Given the description of an element on the screen output the (x, y) to click on. 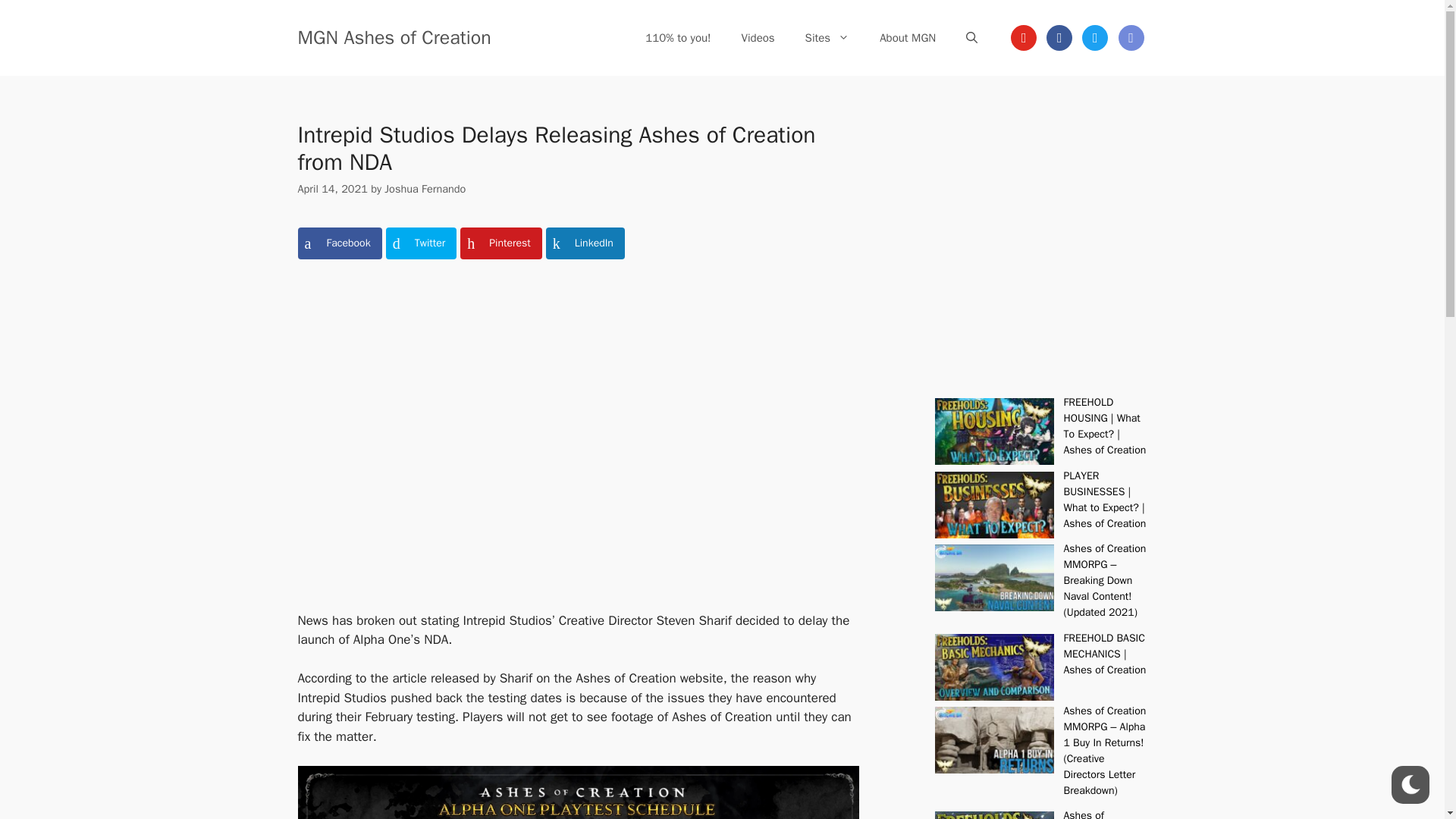
Default Label (1023, 36)
youtube (1023, 36)
twitter (1094, 36)
Sites (827, 37)
About MGN (907, 37)
Twitter (1094, 36)
Facebook (1058, 36)
facebook (1058, 36)
Instagram (1130, 36)
Share on Facebook (339, 243)
View all posts by Joshua Fernando (424, 188)
Share on LinkedIn (585, 243)
Share on Twitter (421, 243)
MGN Ashes of Creation (393, 37)
Videos (758, 37)
